Given the description of an element on the screen output the (x, y) to click on. 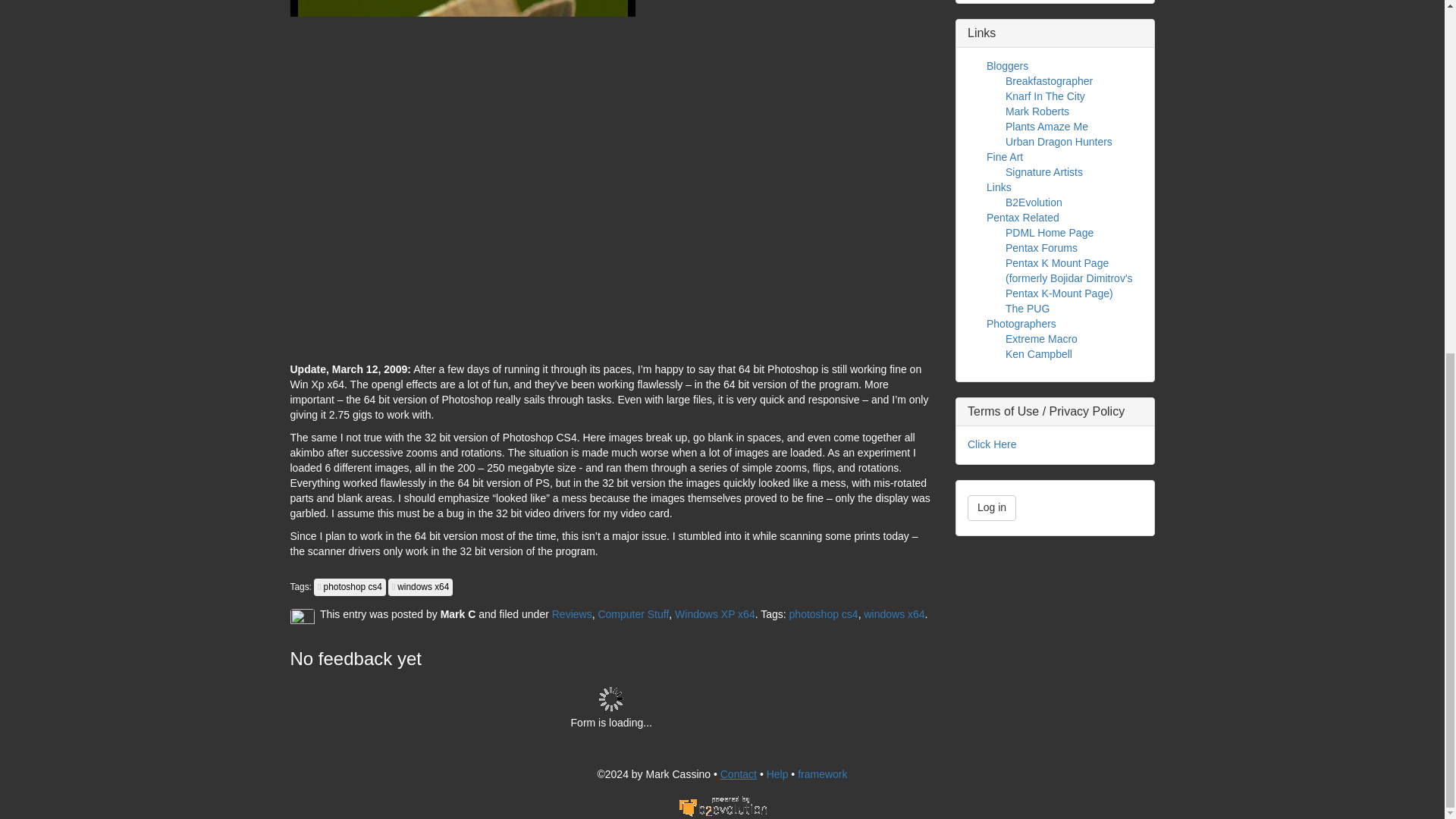
photoshop cs4 (824, 613)
Reviews (571, 613)
American Copper (461, 177)
Browse category (632, 613)
Browse category (571, 613)
Browse category (715, 613)
Windows XP x64 (715, 613)
Computer Stuff (632, 613)
b2evolution CMS (722, 806)
windows x64 (893, 613)
